Given the description of an element on the screen output the (x, y) to click on. 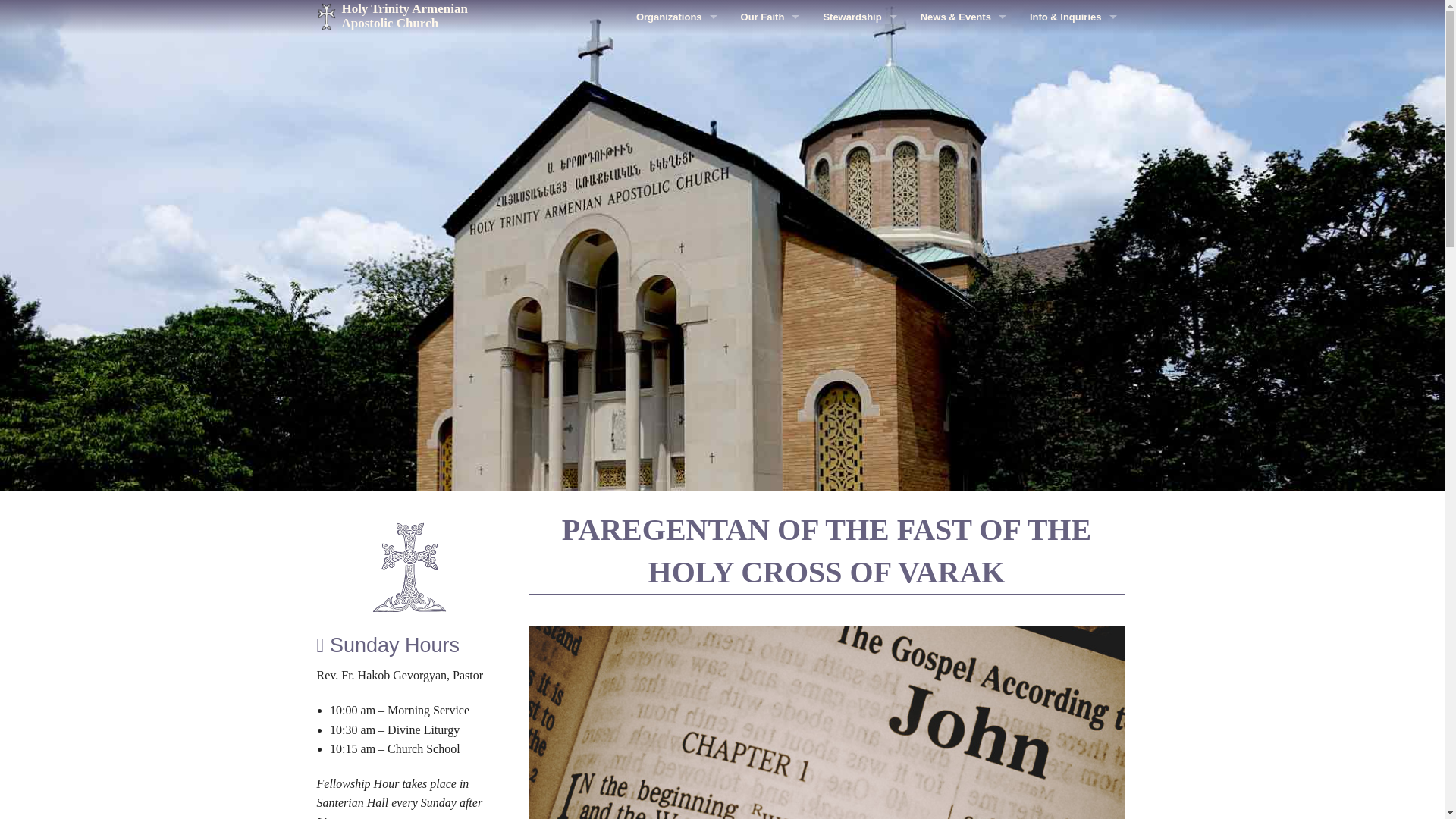
Paregentan of the Fast of the Holy Cross of Varak (826, 550)
